Given the description of an element on the screen output the (x, y) to click on. 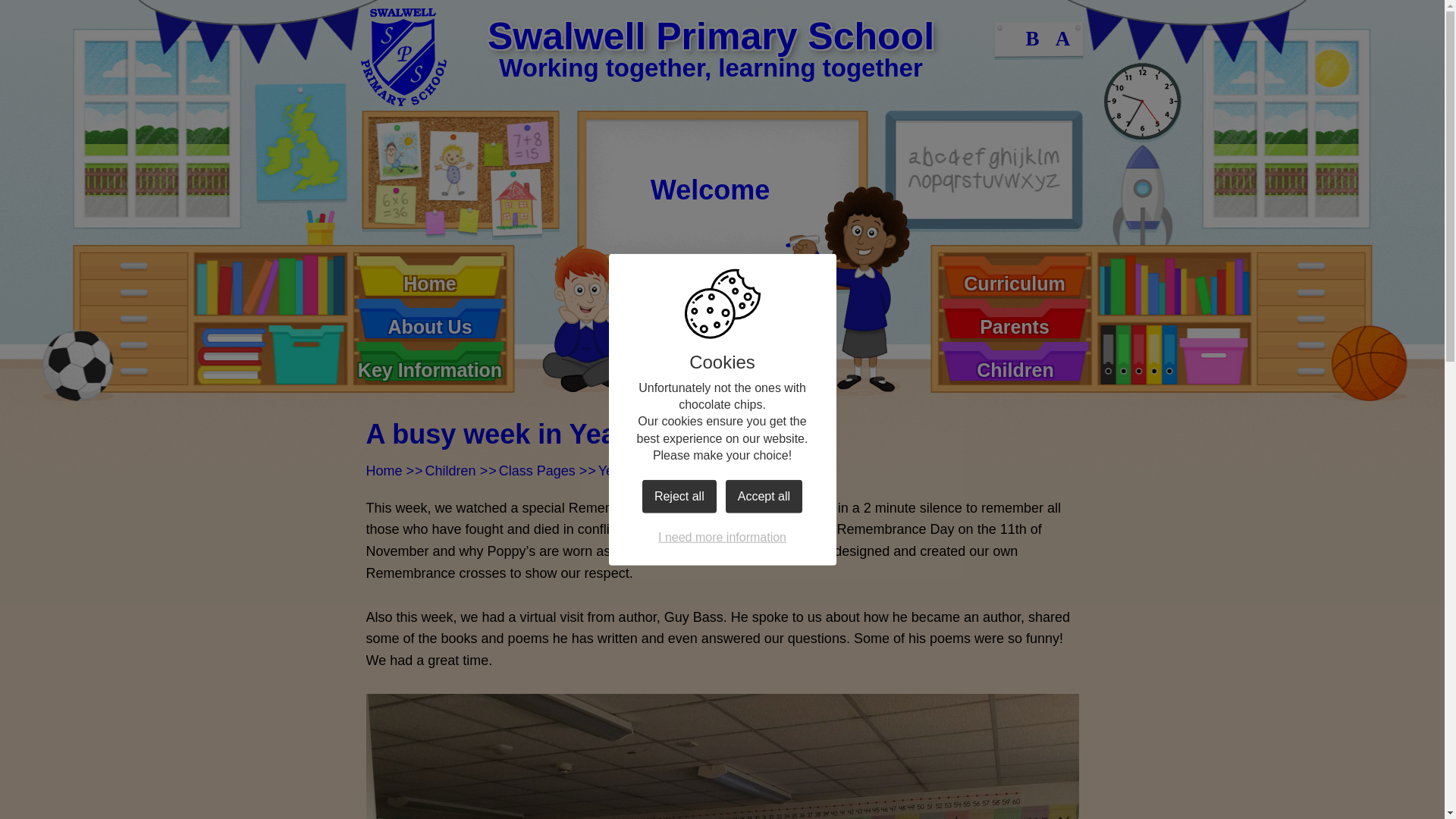
About Us (429, 320)
Class Pages (537, 470)
Children (450, 470)
A busy week in Year 5 (726, 470)
Home (429, 276)
Key Information (429, 363)
Year 5 (617, 470)
Home (383, 470)
Curriculum (1014, 276)
